Given the description of an element on the screen output the (x, y) to click on. 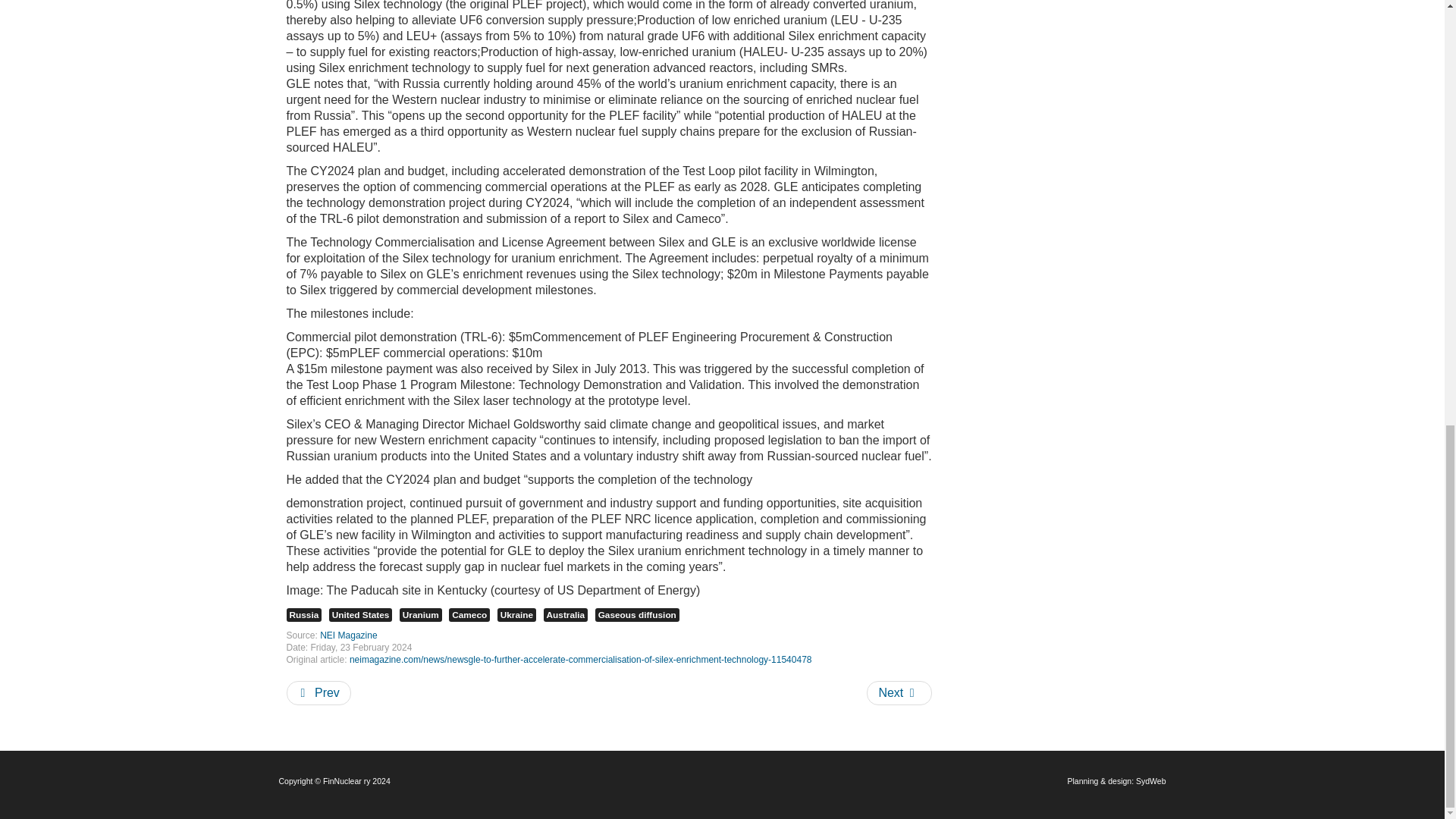
Next (898, 692)
Russia (303, 614)
Ukraine (516, 614)
Gaseous diffusion (637, 614)
Australia (565, 614)
Uranium (420, 614)
Prev (318, 692)
Cameco (468, 614)
United States (361, 614)
SydWeb (1150, 780)
